Given the description of an element on the screen output the (x, y) to click on. 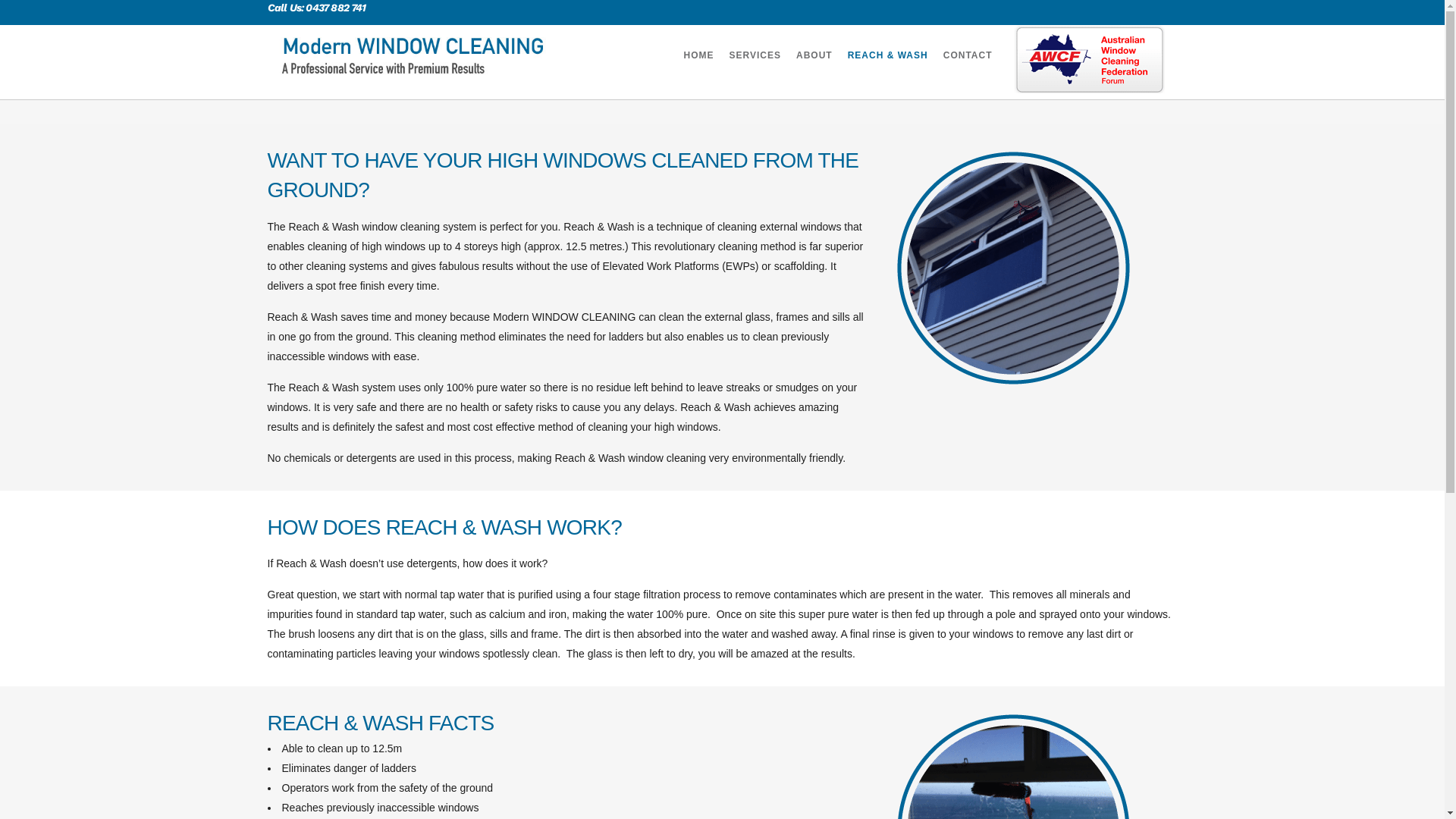
SERVICES Element type: text (754, 55)
ABOUT Element type: text (814, 55)
REACH & WASH Element type: text (887, 55)
CONTACT Element type: text (967, 55)
HOME Element type: text (698, 55)
Modern Window Cleaning Element type: hover (1011, 267)
